Given the description of an element on the screen output the (x, y) to click on. 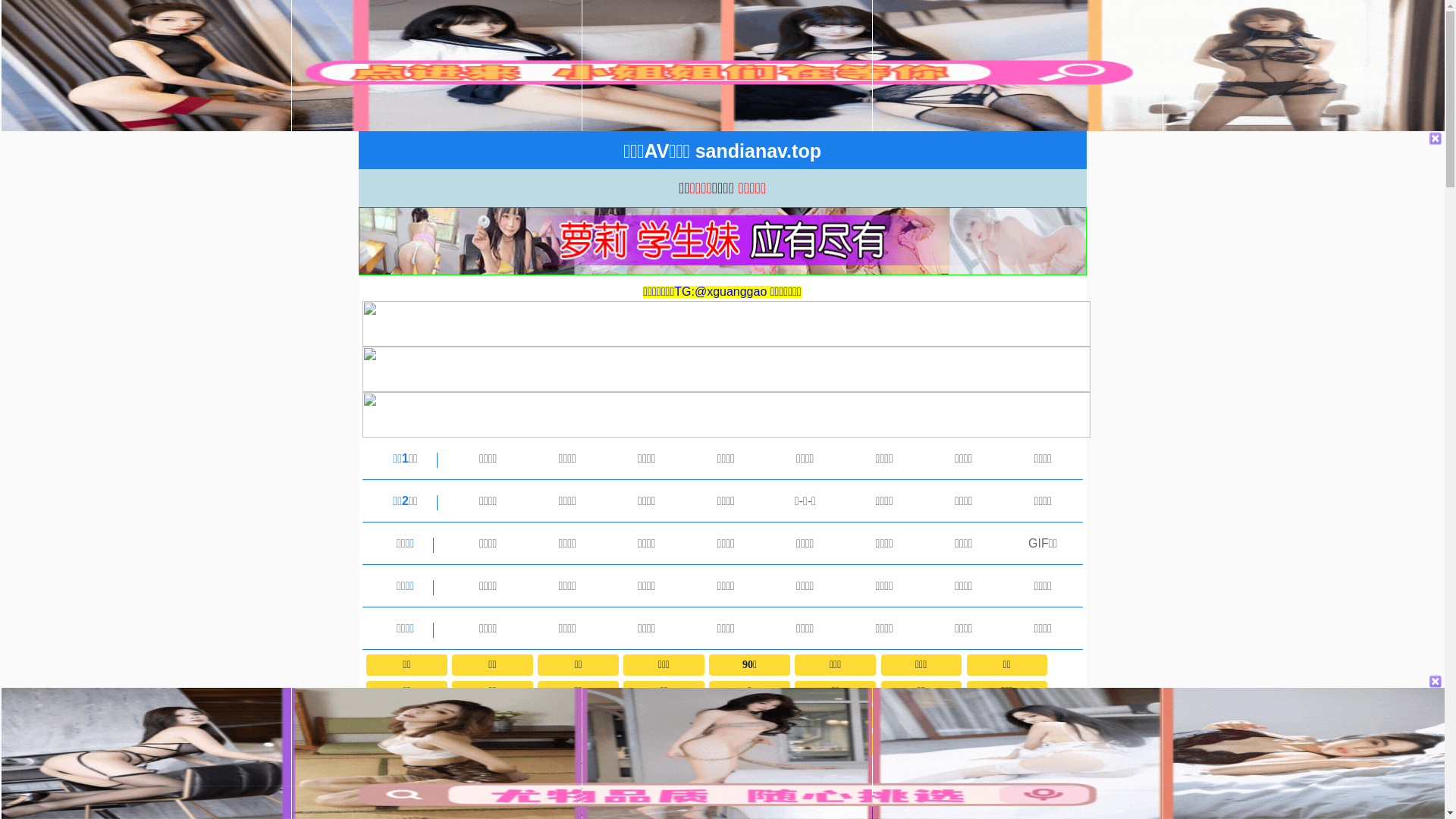
Carib Element type: text (834, 743)
